Given the description of an element on the screen output the (x, y) to click on. 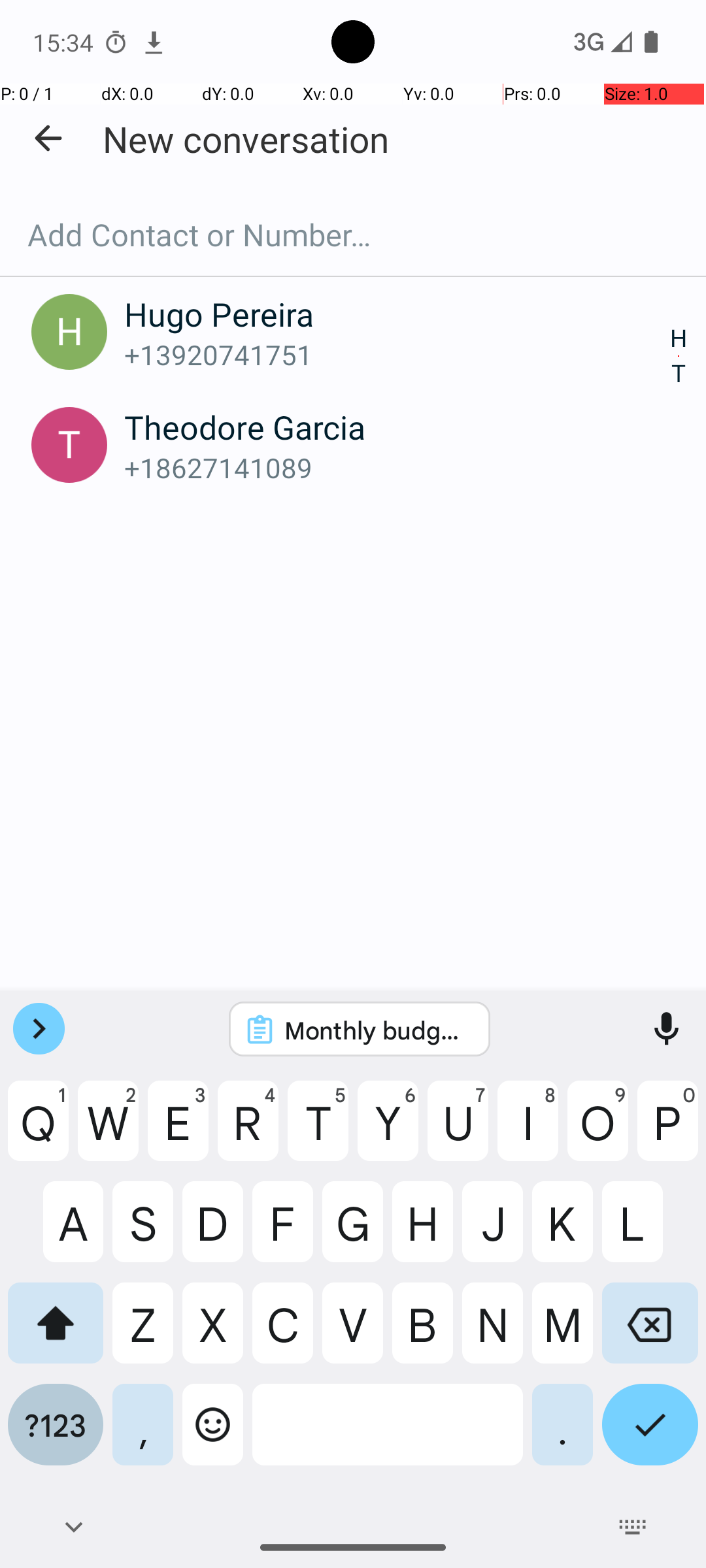
H
T Element type: android.widget.TextView (678, 356)
+13920741751 Element type: android.widget.TextView (397, 354)
Theodore Garcia Element type: android.widget.TextView (397, 426)
+18627141089 Element type: android.widget.TextView (397, 467)
Monthly budget meeting pushed to Friday. Element type: android.widget.TextView (376, 1029)
